Given the description of an element on the screen output the (x, y) to click on. 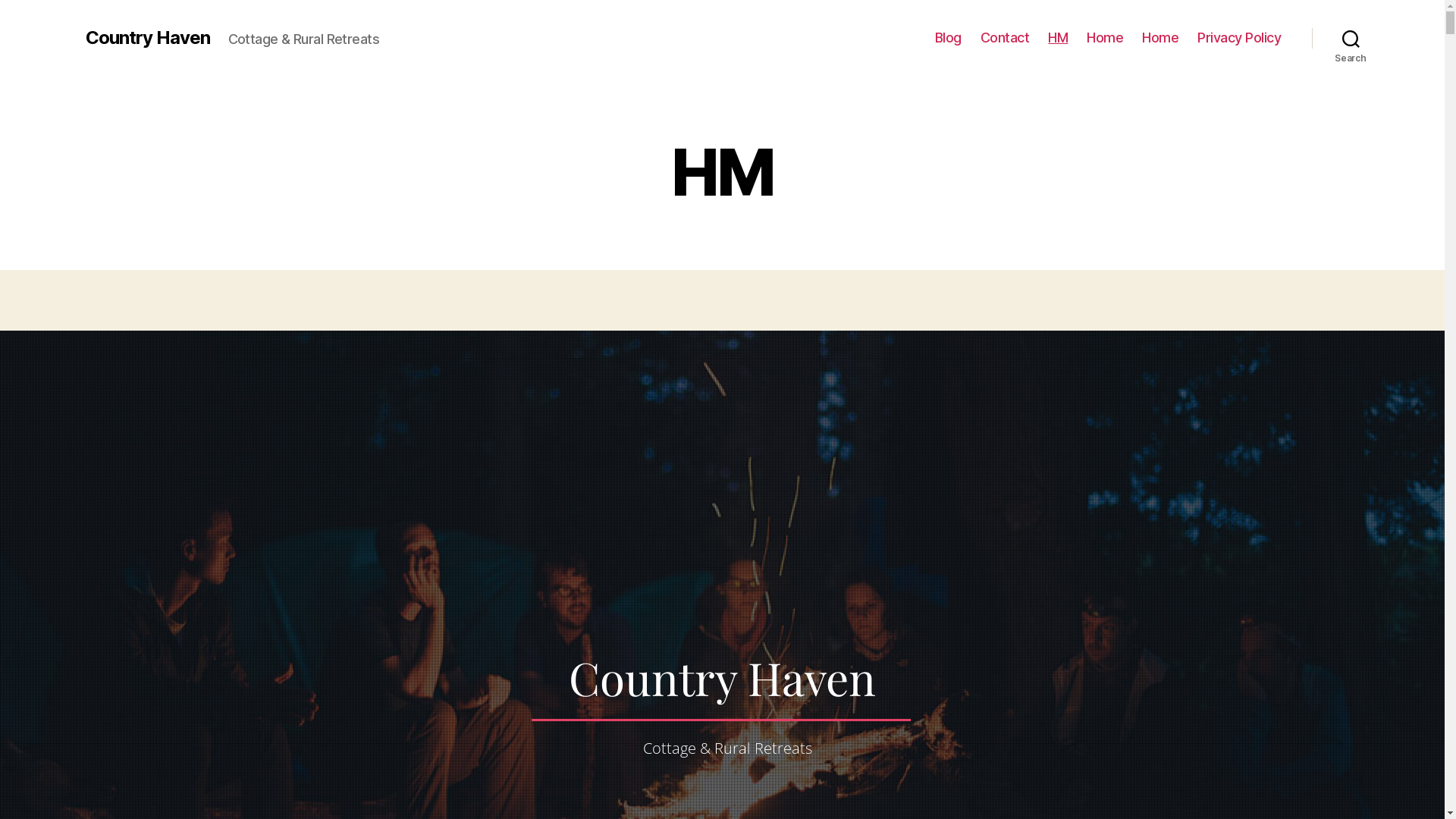
Country Haven Element type: text (146, 37)
Blog Element type: text (948, 37)
Privacy Policy Element type: text (1238, 37)
Home Element type: text (1160, 37)
HM Element type: text (1057, 37)
Search Element type: text (1350, 37)
Contact Element type: text (1004, 37)
Home Element type: text (1104, 37)
